Given the description of an element on the screen output the (x, y) to click on. 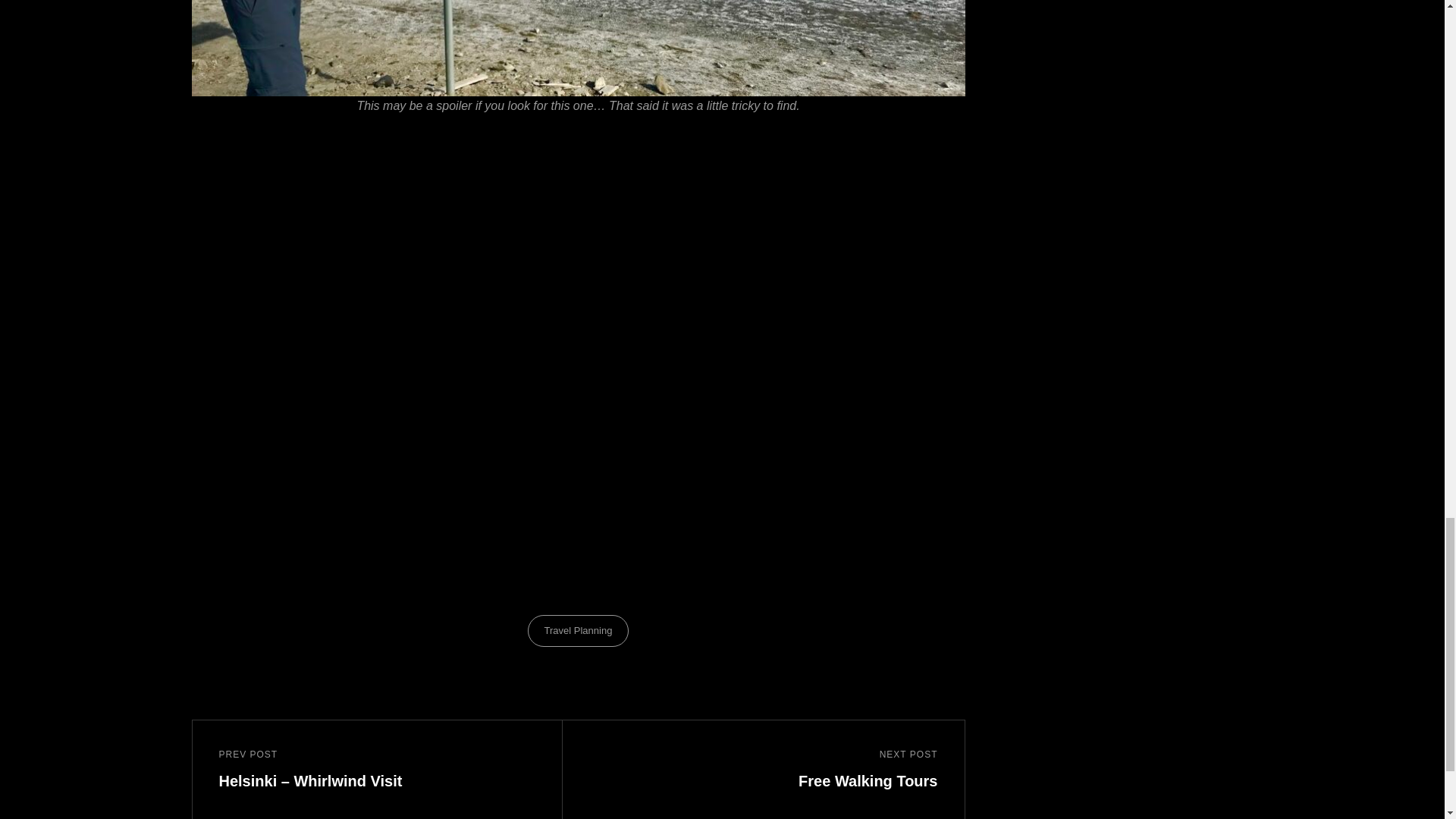
Travel Planning (577, 631)
What is Geocaching? (778, 770)
